Given the description of an element on the screen output the (x, y) to click on. 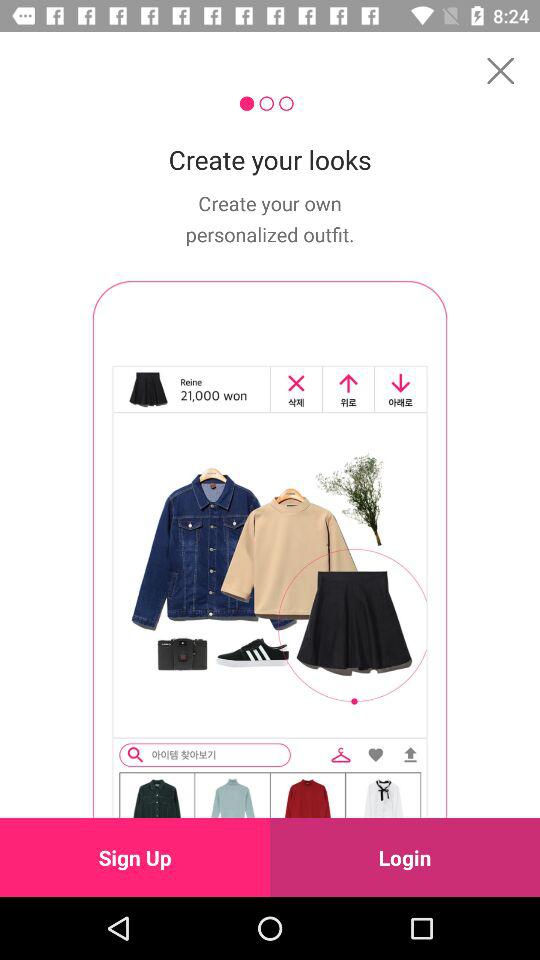
tap the login icon (405, 857)
